Given the description of an element on the screen output the (x, y) to click on. 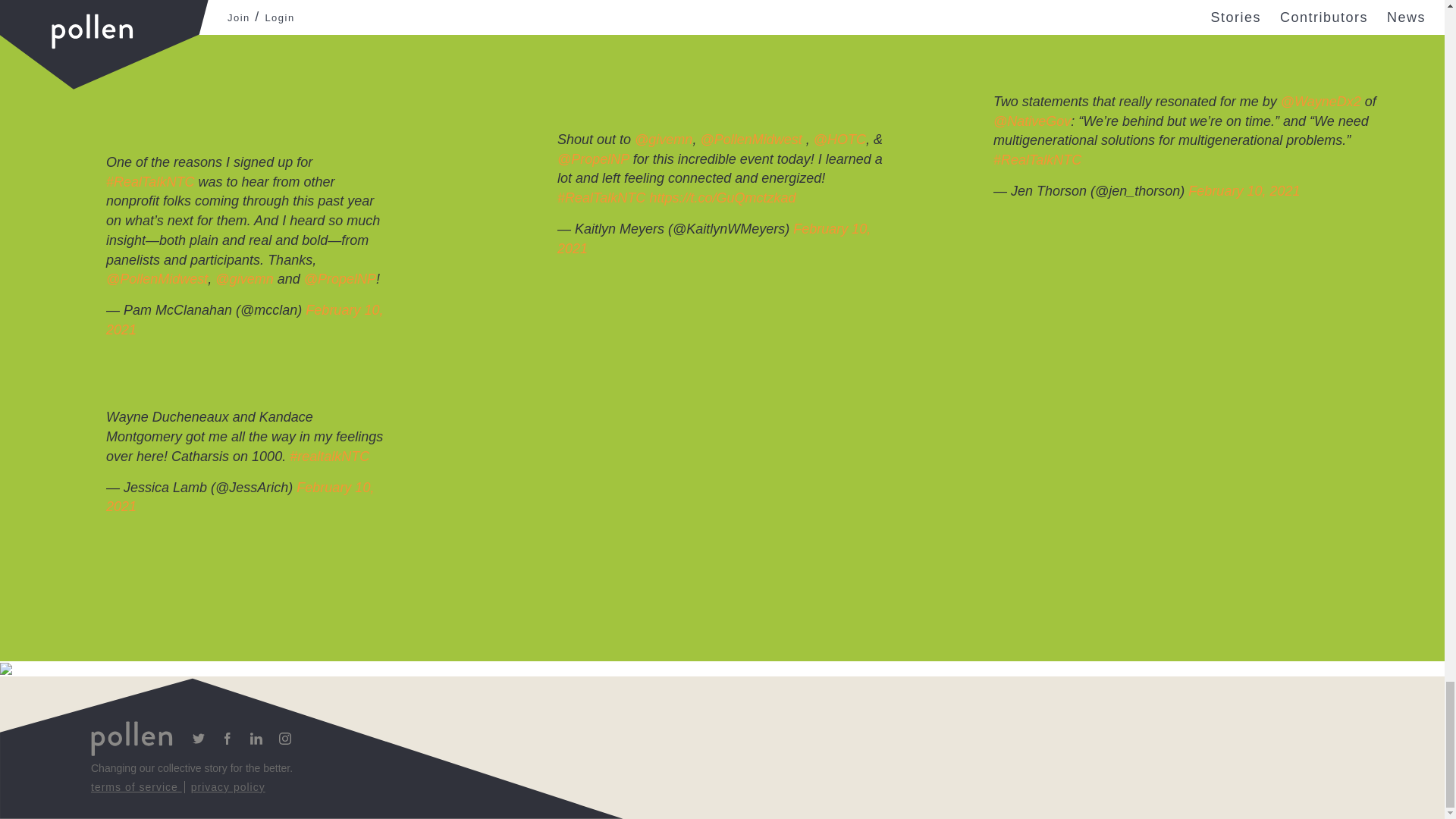
February 10, 2021 (244, 319)
February 10, 2021 (1244, 191)
February 10, 2021 (240, 497)
February 10, 2021 (713, 238)
